Given the description of an element on the screen output the (x, y) to click on. 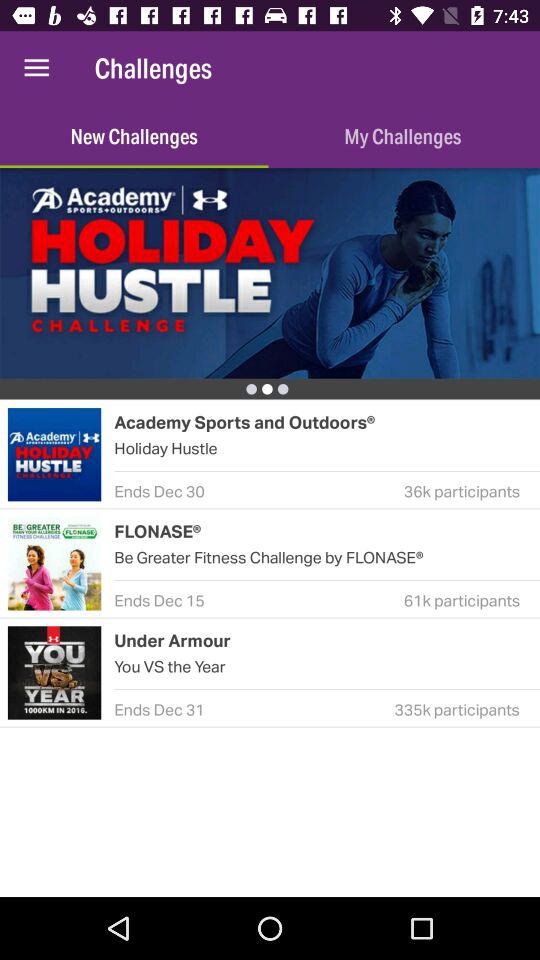
see article (270, 273)
